Given the description of an element on the screen output the (x, y) to click on. 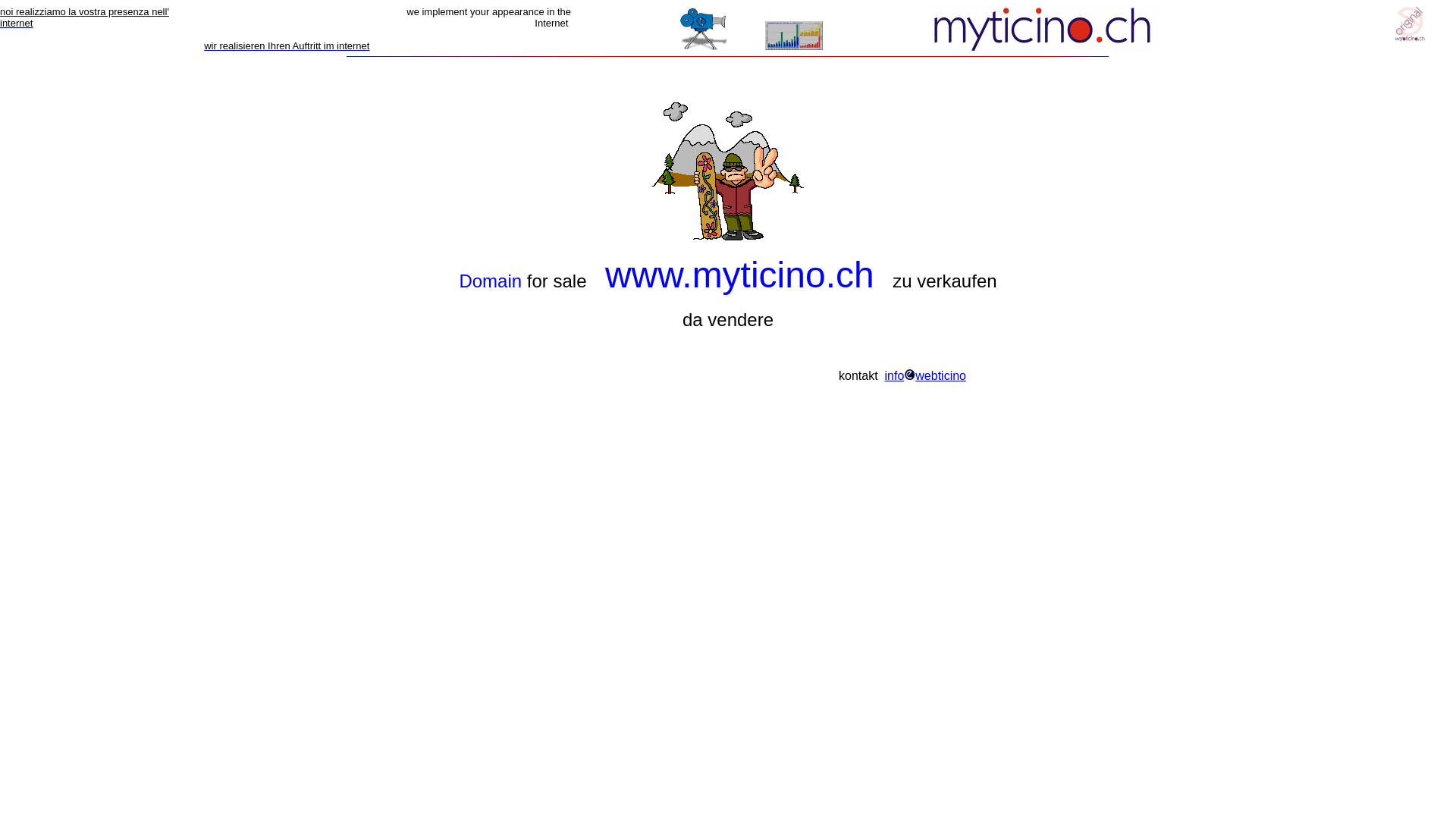
wir realisieren Ihren Auftritt im internet Element type: text (286, 45)
webticino Element type: text (940, 375)
noi realizziamo la vostra presenza nell' internet Element type: text (84, 16)
info Element type: text (893, 375)
